Given the description of an element on the screen output the (x, y) to click on. 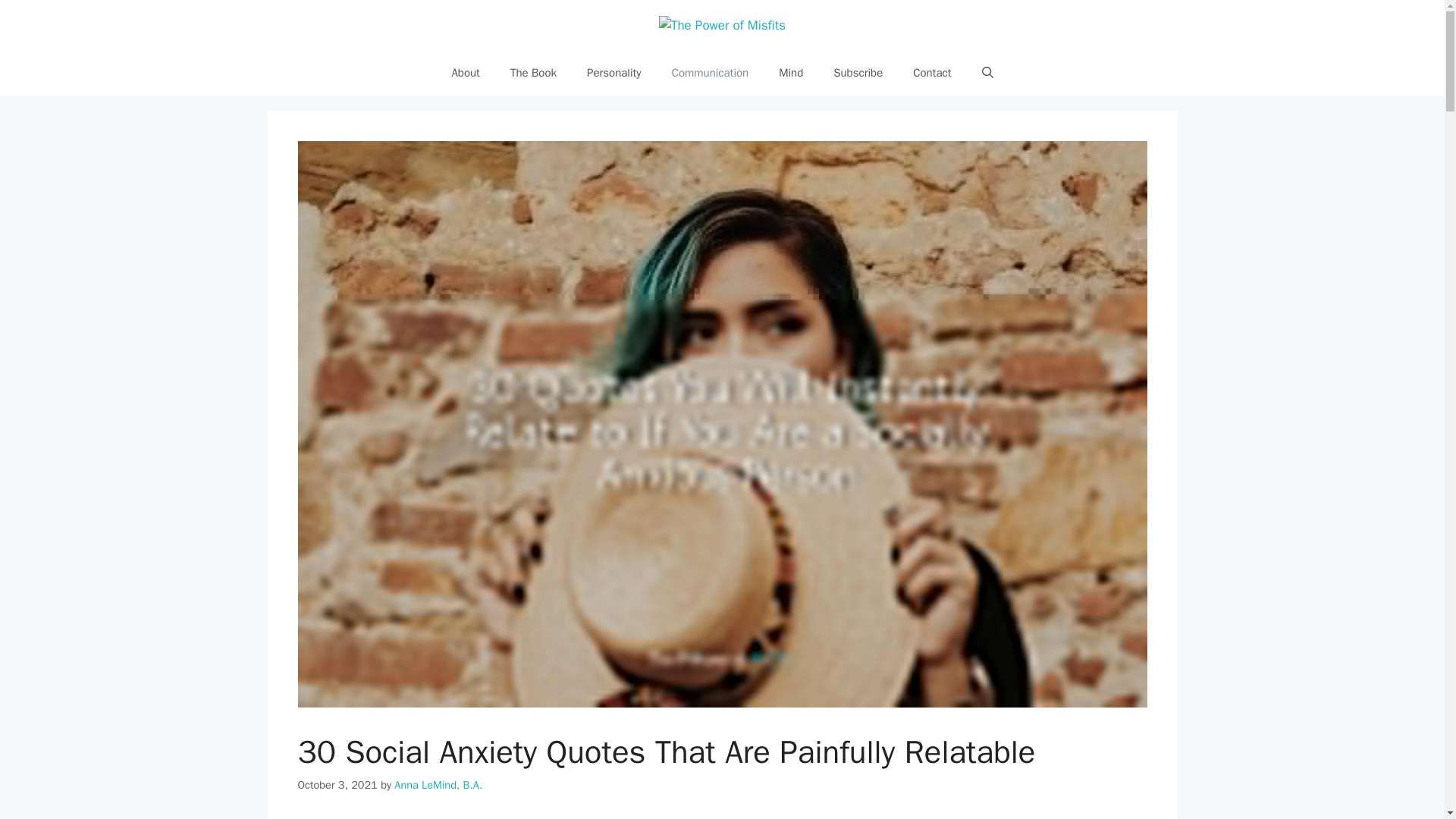
Mind (790, 72)
Personality (614, 72)
Communication (710, 72)
View all posts by Anna LeMind, B.A. (437, 784)
The Book (533, 72)
Anna LeMind, B.A. (437, 784)
About (465, 72)
Subscribe (858, 72)
Contact (932, 72)
